Given the description of an element on the screen output the (x, y) to click on. 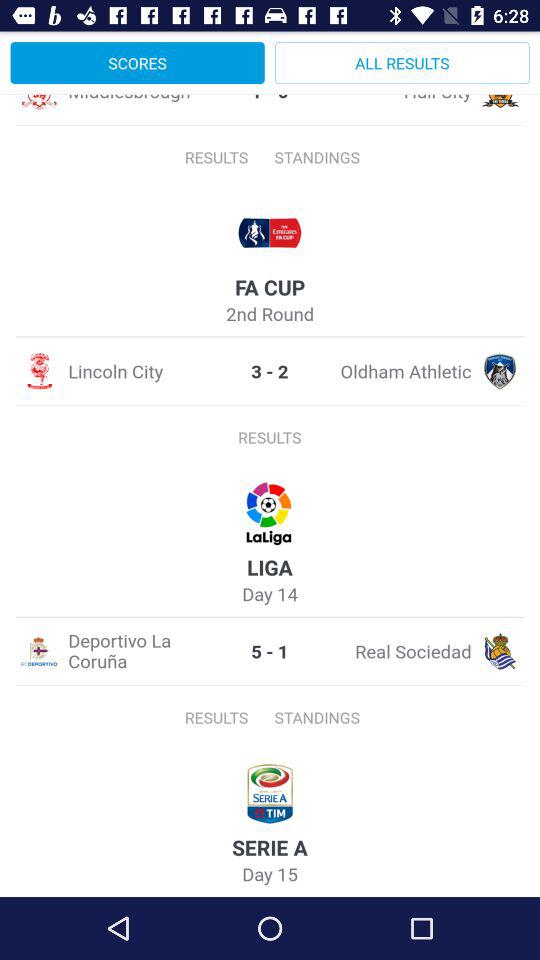
select the item to the right of the scores icon (402, 62)
